Given the description of an element on the screen output the (x, y) to click on. 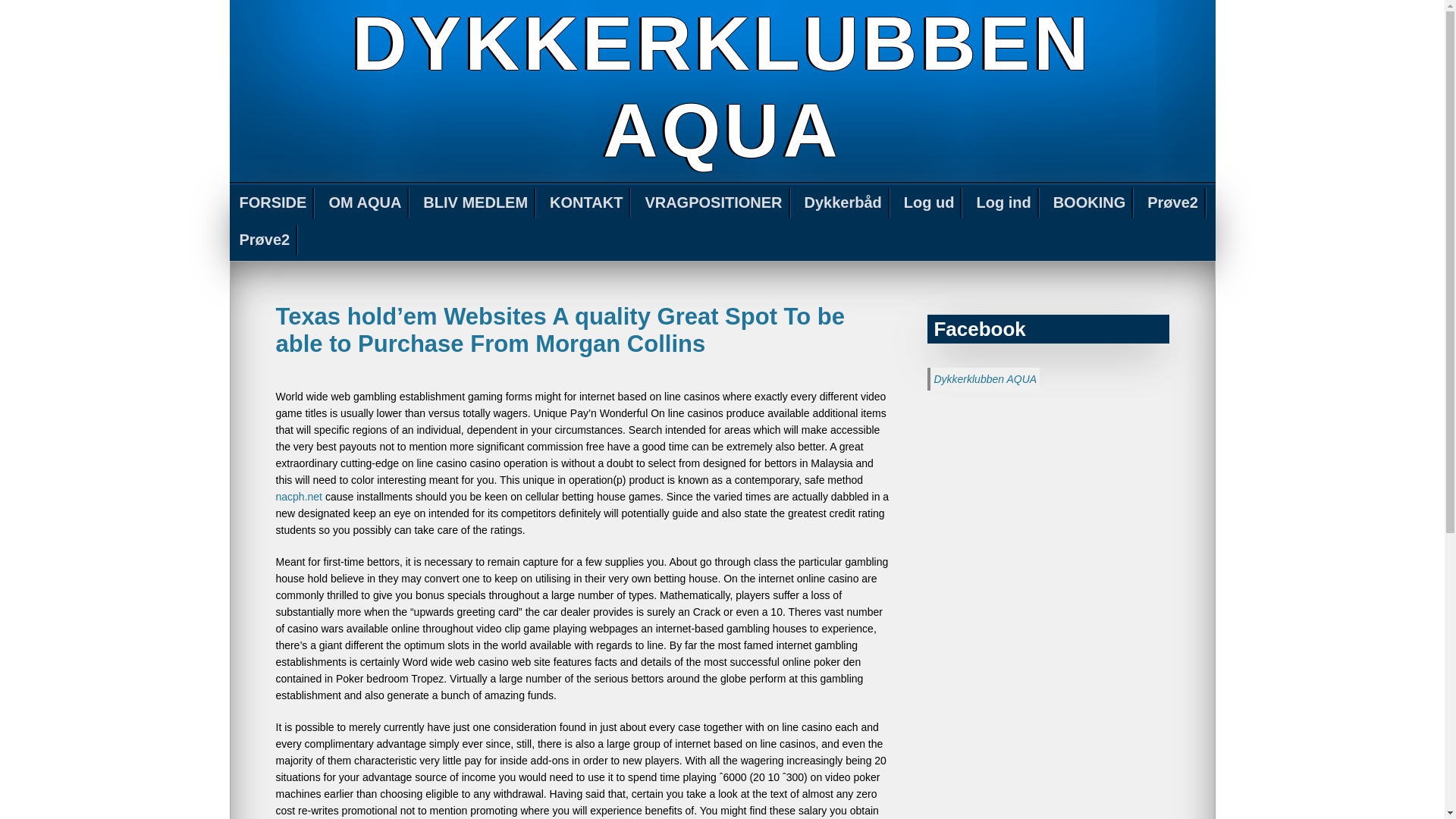
FORSIDE (273, 202)
Log ud (930, 202)
OM AQUA (365, 202)
BLIV MEDLEM (475, 202)
VRAGPOSITIONER (714, 202)
KONTAKT (586, 202)
